Given the description of an element on the screen output the (x, y) to click on. 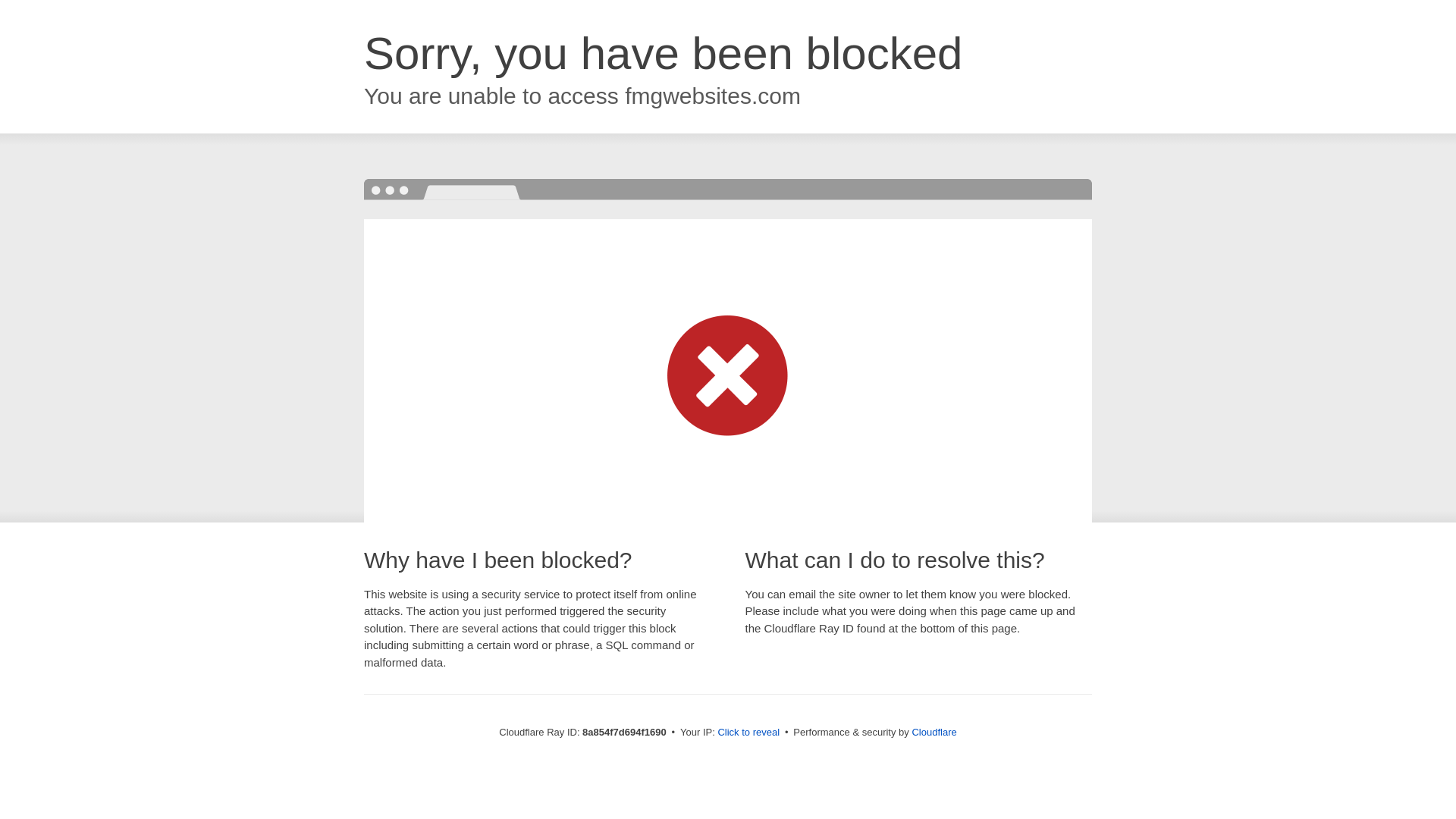
Click to reveal (747, 732)
Cloudflare (933, 731)
